Given the description of an element on the screen output the (x, y) to click on. 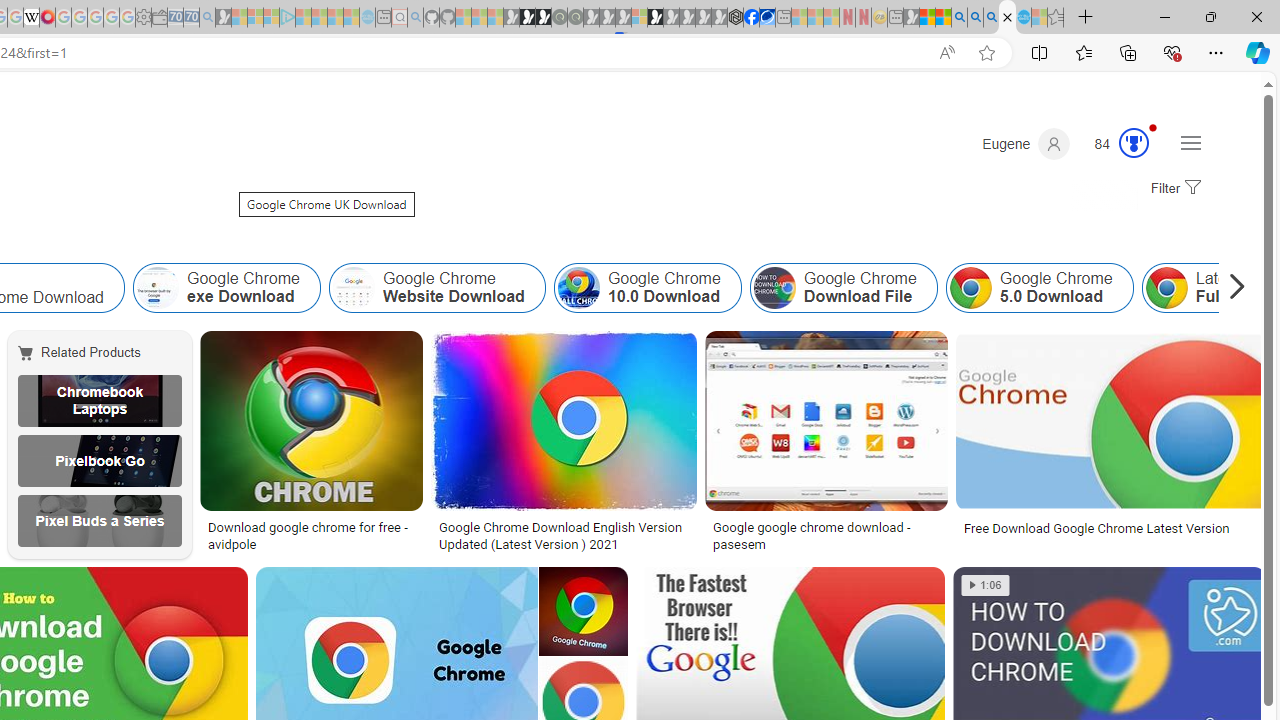
Free Download Google Chrome Latest VersionSave (1110, 444)
Pixel Buds A-Series (99, 521)
Image result for Google Chrome UK Download (1110, 421)
Google Chrome 5.0 Download (970, 287)
Google Chrome Website Download (353, 287)
MediaWiki (47, 17)
Google Chrome Website Download (436, 287)
Download google chrome for free - avidpole (310, 535)
